Given the description of an element on the screen output the (x, y) to click on. 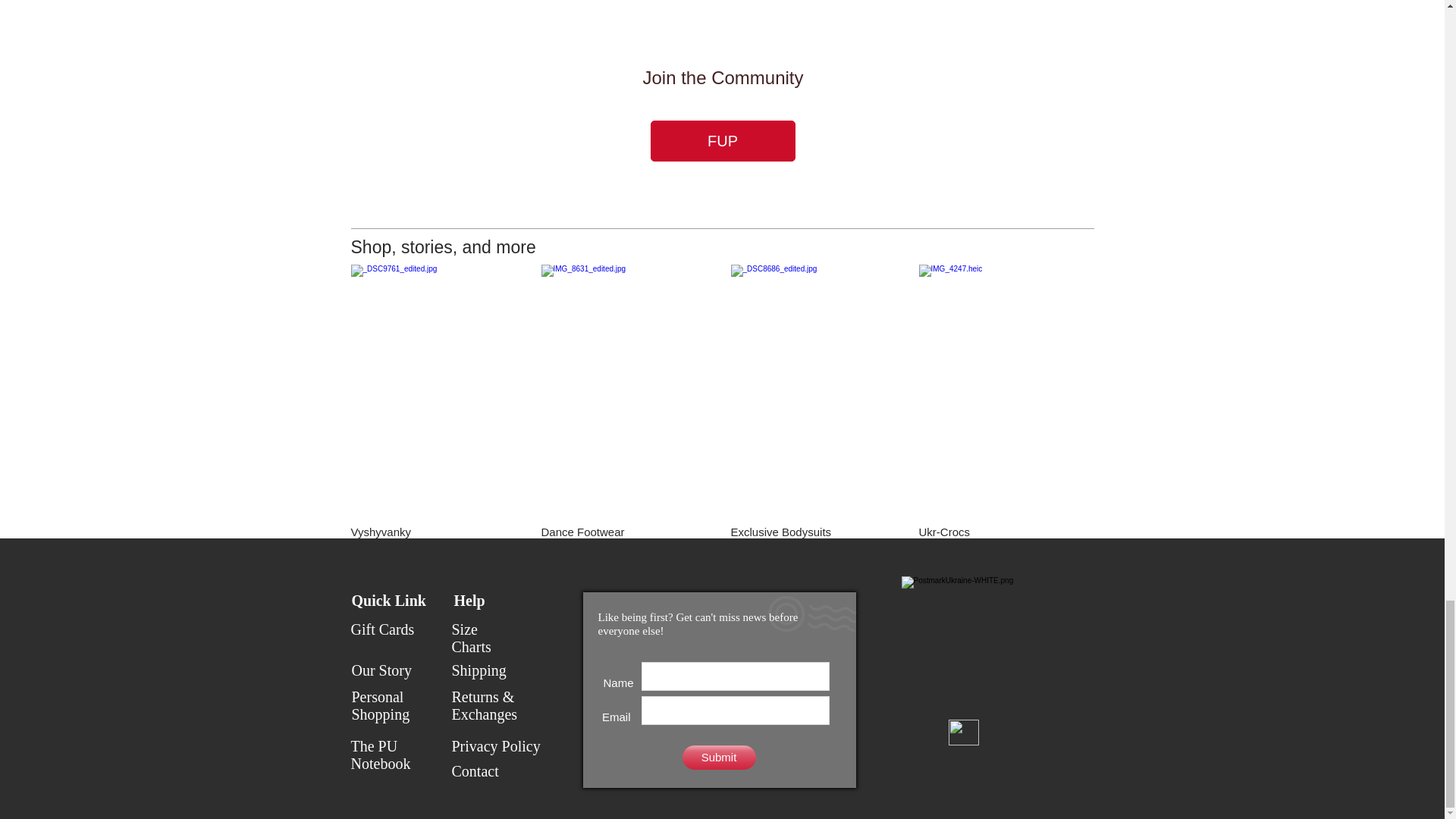
Submit (718, 757)
FUP (722, 140)
Shipping (478, 669)
Size Charts (471, 637)
Personal Shopping (381, 705)
Gift Cards (381, 629)
Our Story (382, 669)
The PU Notebook (380, 754)
Contact (475, 770)
Privacy Policy (495, 745)
